Given the description of an element on the screen output the (x, y) to click on. 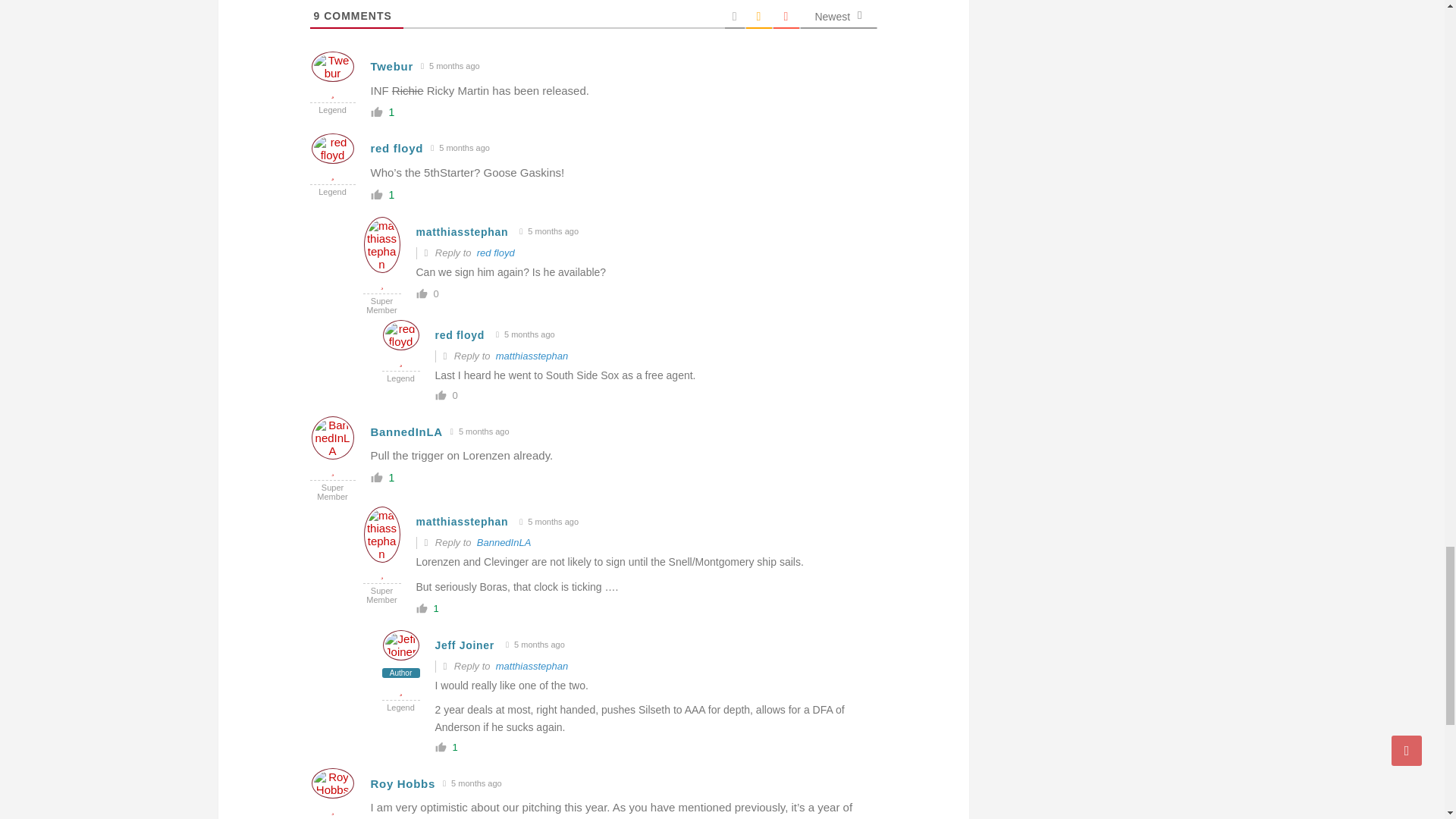
March 5, 2024 9:50 am (548, 231)
March 5, 2024 9:51 am (548, 522)
March 5, 2024 10:34 am (525, 334)
March 5, 2024 9:34 am (459, 147)
1 (454, 747)
1 (436, 608)
0 (454, 395)
1 (390, 477)
1 (390, 111)
March 5, 2024 9:46 am (449, 65)
